Given the description of an element on the screen output the (x, y) to click on. 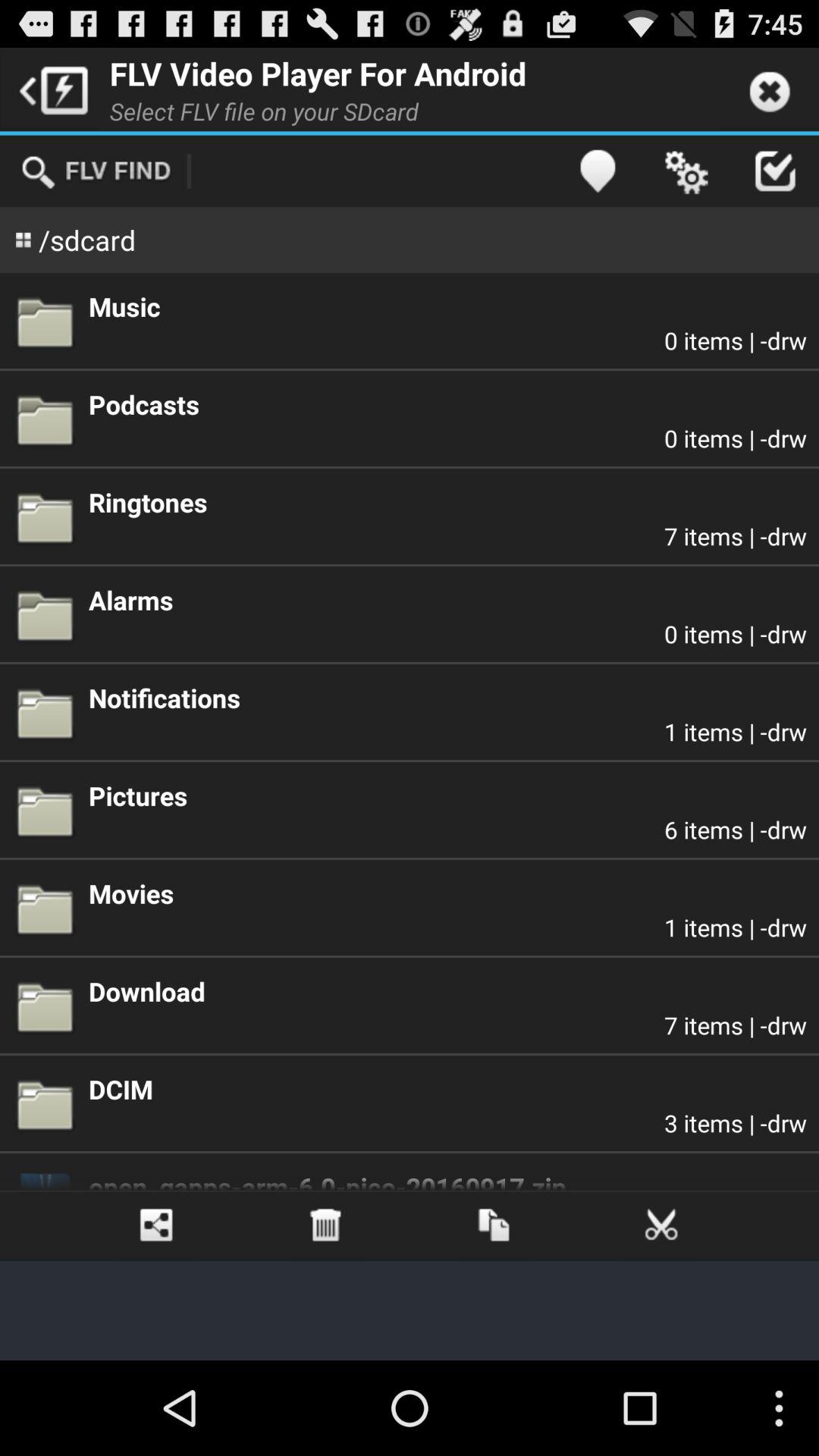
click the item below open_gapps arm 6 icon (156, 1225)
